Given the description of an element on the screen output the (x, y) to click on. 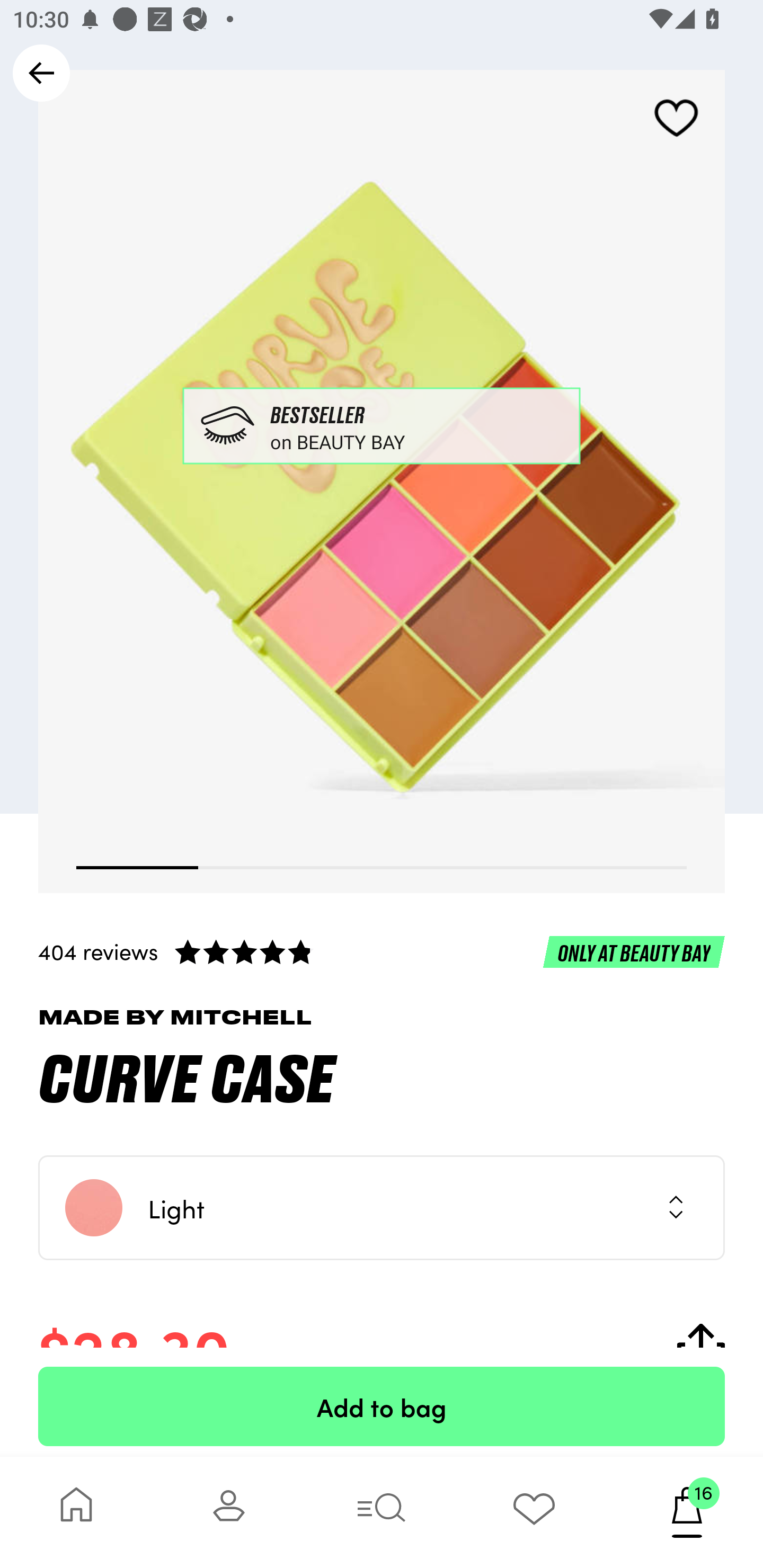
404 reviews (381, 950)
Light  (381, 1207)
Add to bag (381, 1406)
16 (686, 1512)
